Given the description of an element on the screen output the (x, y) to click on. 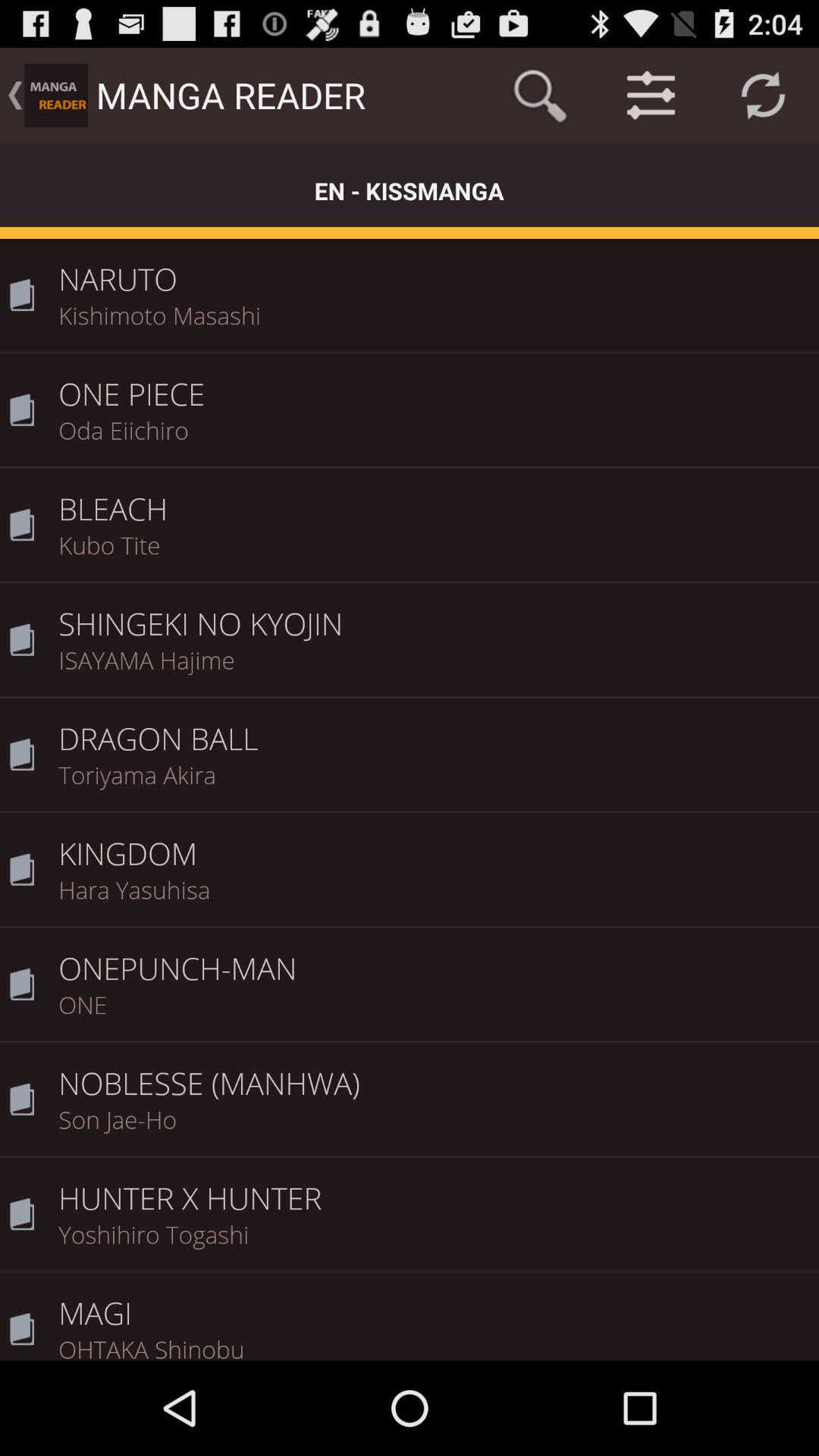
tap icon below the one item (433, 1073)
